Given the description of an element on the screen output the (x, y) to click on. 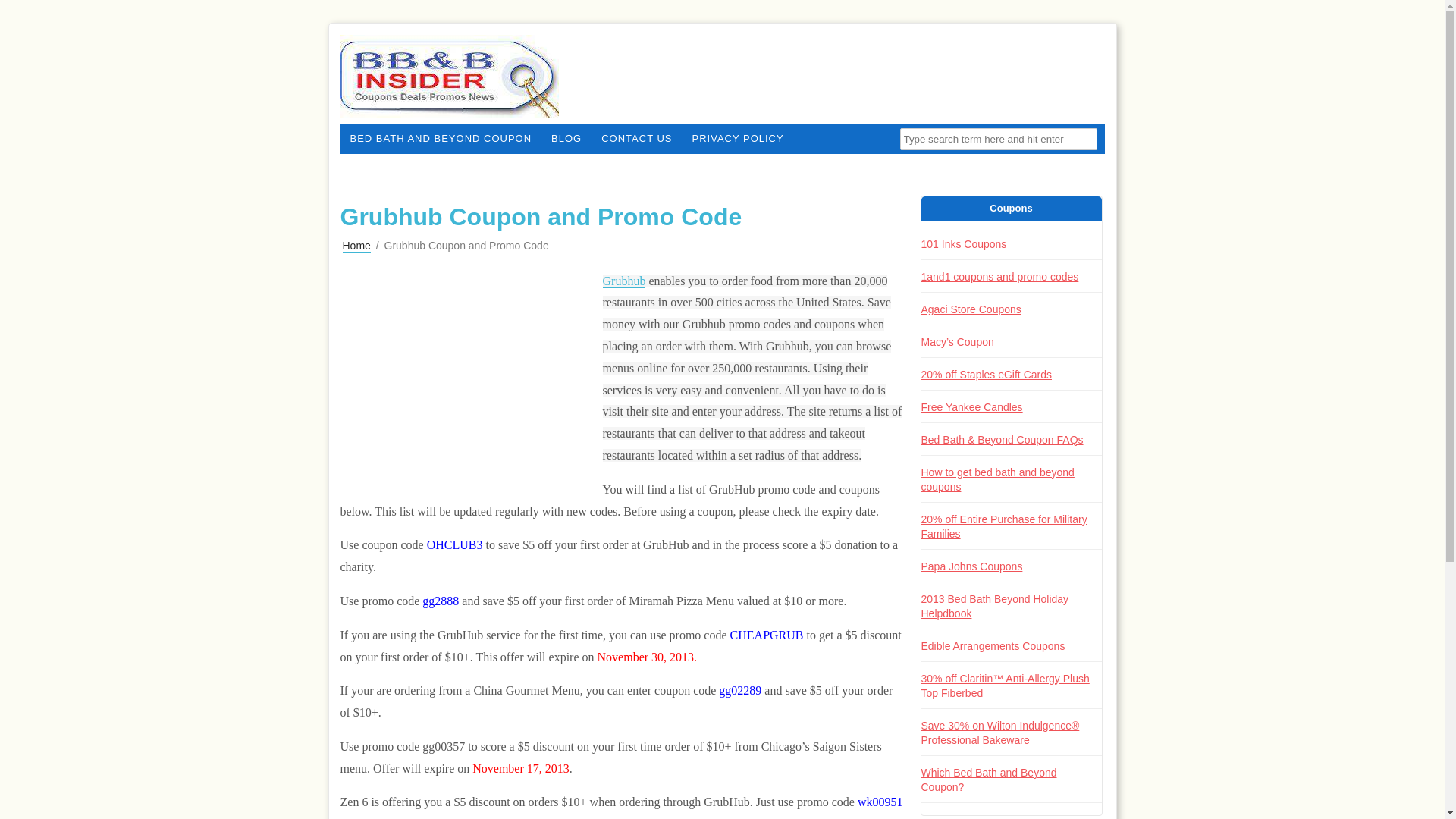
Papa Johns Coupons (971, 565)
2013 Bed Bath Beyond Holiday Helpdbook (994, 605)
Grubhub Food ordering service (623, 281)
CONTACT US (636, 138)
Grubhub (623, 281)
How to get bed bath and beyond coupons (997, 479)
BED BATH AND BEYOND COUPON (440, 138)
Advertisement (470, 380)
PRIVACY POLICY (737, 138)
101 Inks Coupons (963, 244)
BLOG (566, 138)
Agaci Store Coupons (970, 309)
Free Yankee Candles (971, 406)
1and1 coupons and promo codes (999, 275)
Edible Arrangements Coupons (992, 645)
